Given the description of an element on the screen output the (x, y) to click on. 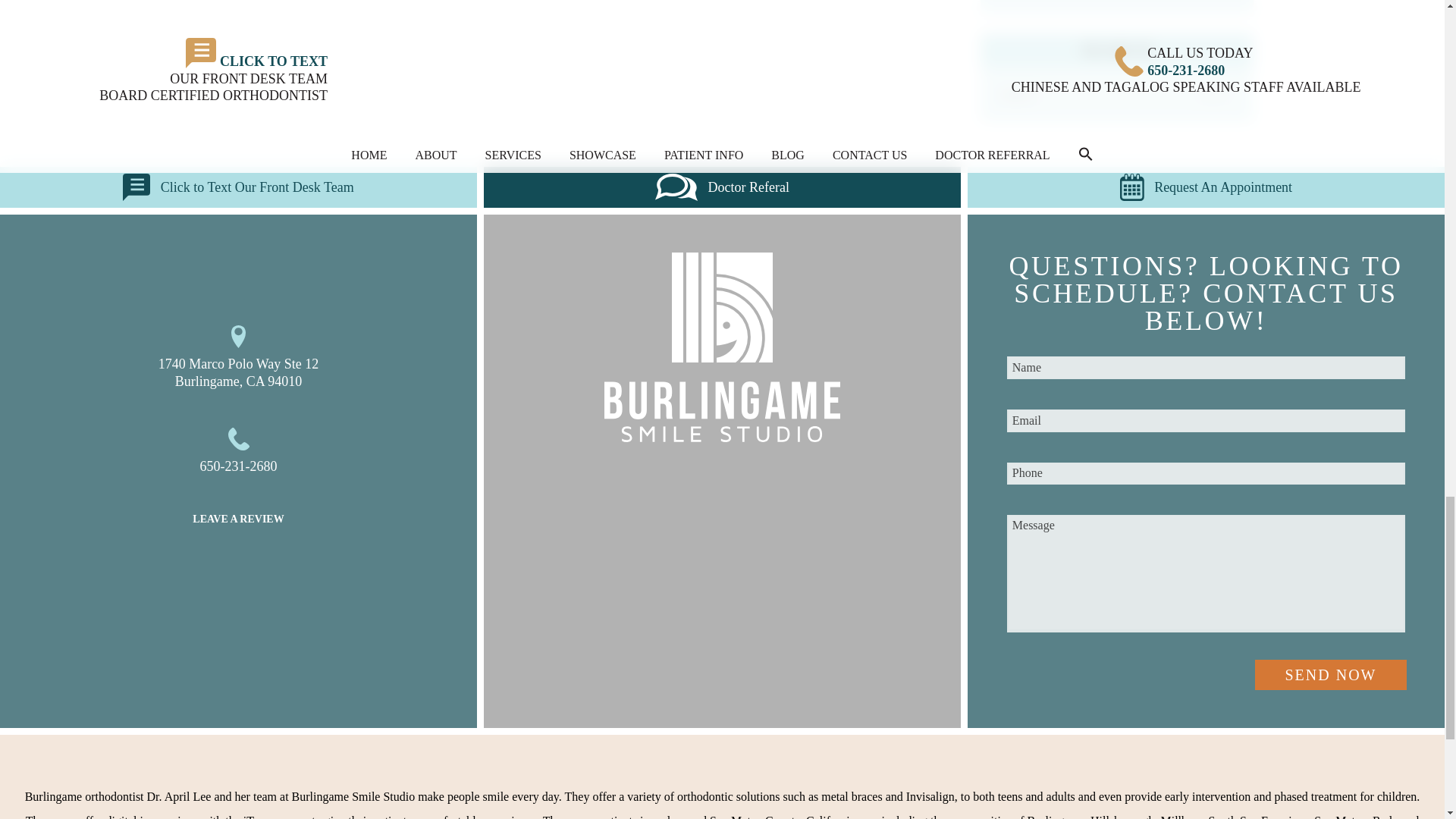
Search (1214, 94)
Send Now (1330, 675)
Search (1214, 94)
